Given the description of an element on the screen output the (x, y) to click on. 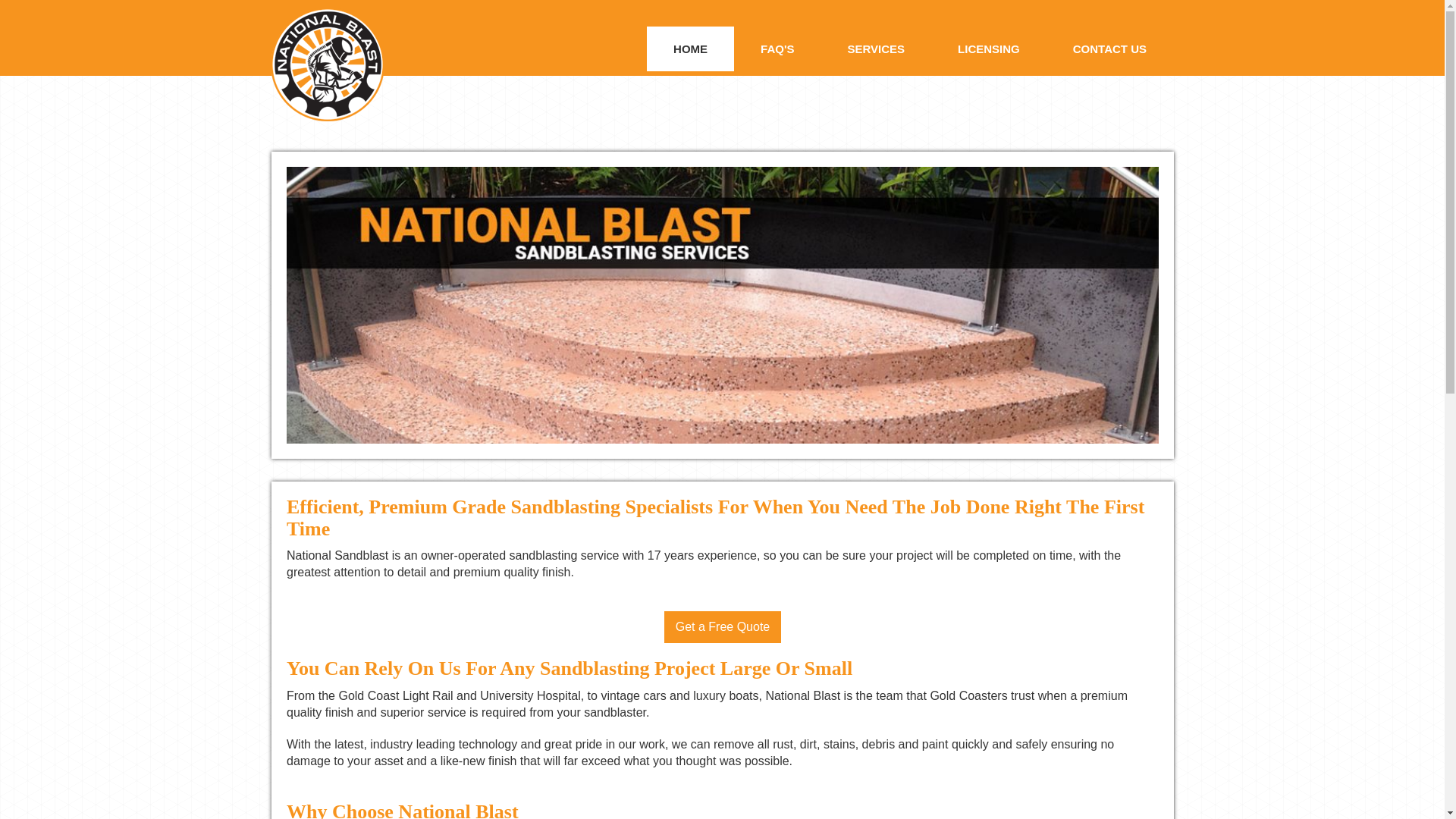
HOME Element type: text (690, 48)
SERVICES Element type: text (875, 48)
FAQ'S Element type: text (777, 48)
LICENSING Element type: text (988, 48)
CONTACT US Element type: text (1109, 48)
Get a Free Quote Element type: text (722, 627)
